Given the description of an element on the screen output the (x, y) to click on. 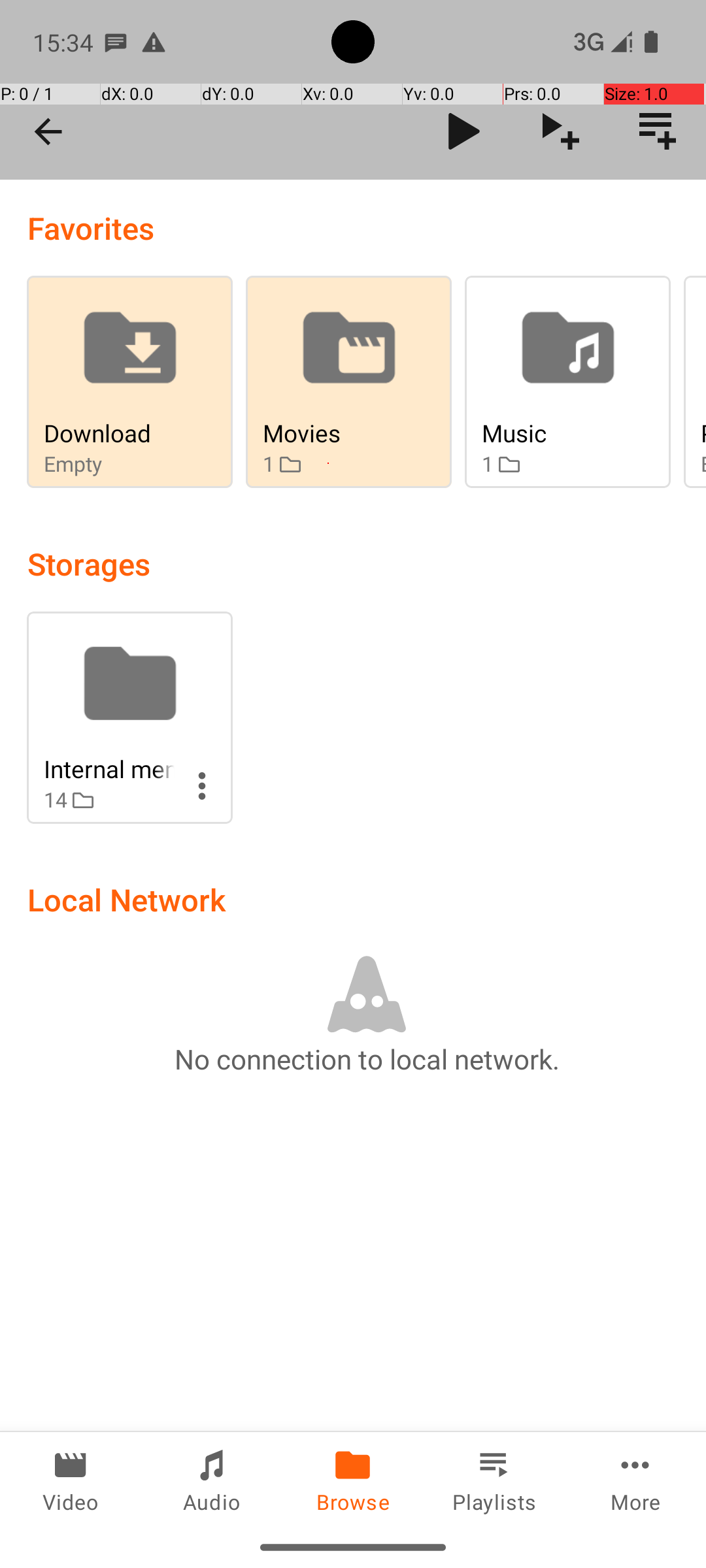
Append Element type: android.widget.TextView (560, 131)
Add to playlist Element type: android.widget.TextView (657, 131)
Display in list Element type: android.widget.TextView (595, 131)
Storages Element type: android.widget.TextView (88, 563)
Local Network Element type: android.widget.TextView (126, 898)
No connection to local network. Element type: android.widget.TextView (366, 1058)
Favorite: Download, Empty Element type: androidx.cardview.widget.CardView (129, 381)
Favorite: Movies, 1 subfolder Element type: androidx.cardview.widget.CardView (348, 381)
Favorite: Music, 1 subfolder Element type: androidx.cardview.widget.CardView (567, 381)
Favorite: Podcasts, Empty Element type: androidx.cardview.widget.CardView (694, 381)
Folder: Internal memory, 14 subfolders Element type: androidx.cardview.widget.CardView (129, 717)
Empty Element type: android.widget.TextView (108, 463)
Movies Element type: android.widget.TextView (327, 432)
1 §*§ Element type: android.widget.TextView (327, 463)
Podcasts Element type: android.widget.TextView (703, 432)
Internal memory Element type: android.widget.TextView (108, 768)
14 §*§ Element type: android.widget.TextView (108, 799)
More Actions Element type: android.widget.ImageView (201, 785)
